Given the description of an element on the screen output the (x, y) to click on. 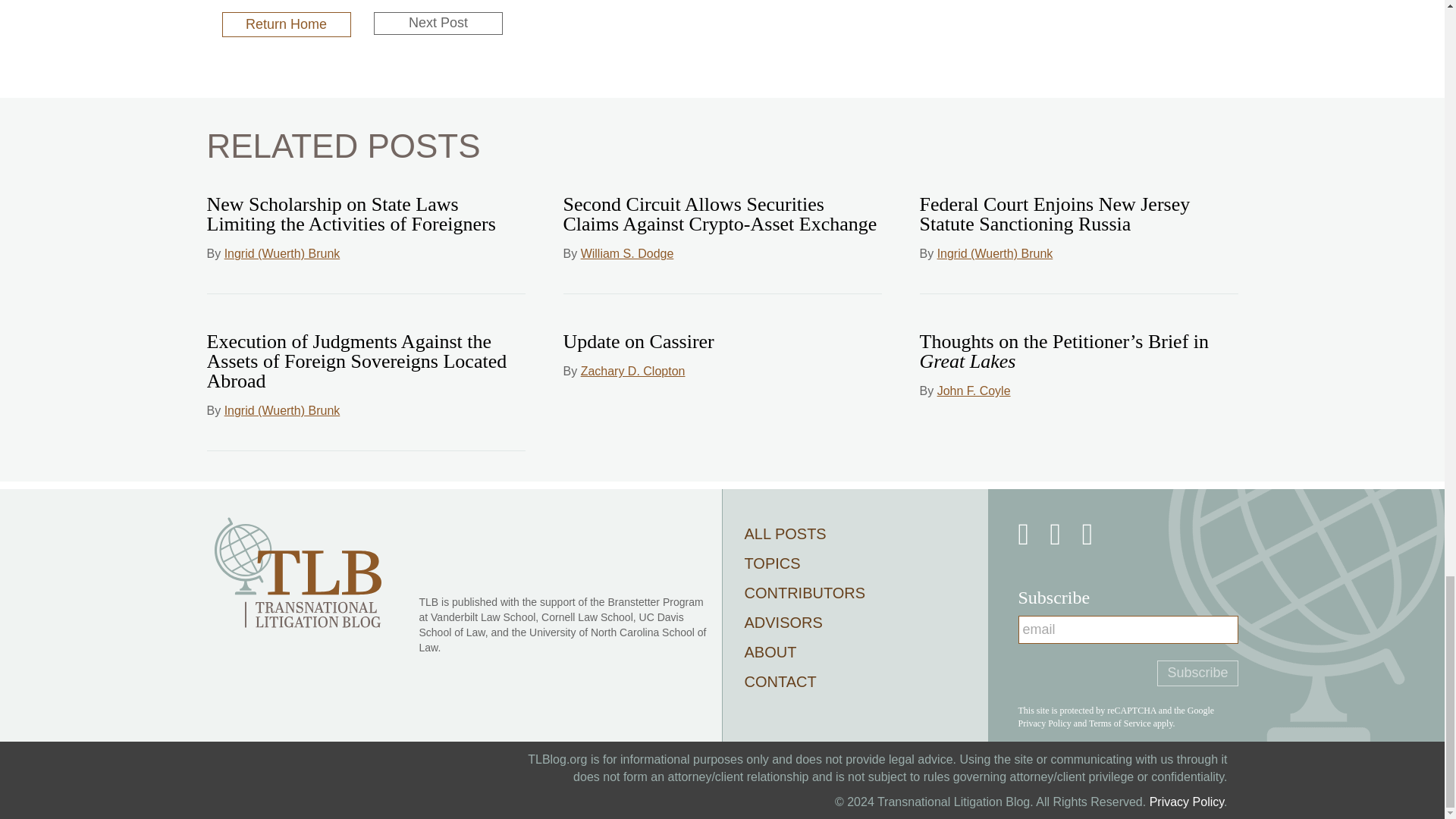
Federal Court Enjoins New Jersey Statute Sanctioning Russia (1053, 214)
Update on Cassirer (637, 341)
tlb-logo-v.svg (297, 572)
Subscribe (1197, 673)
